Given the description of an element on the screen output the (x, y) to click on. 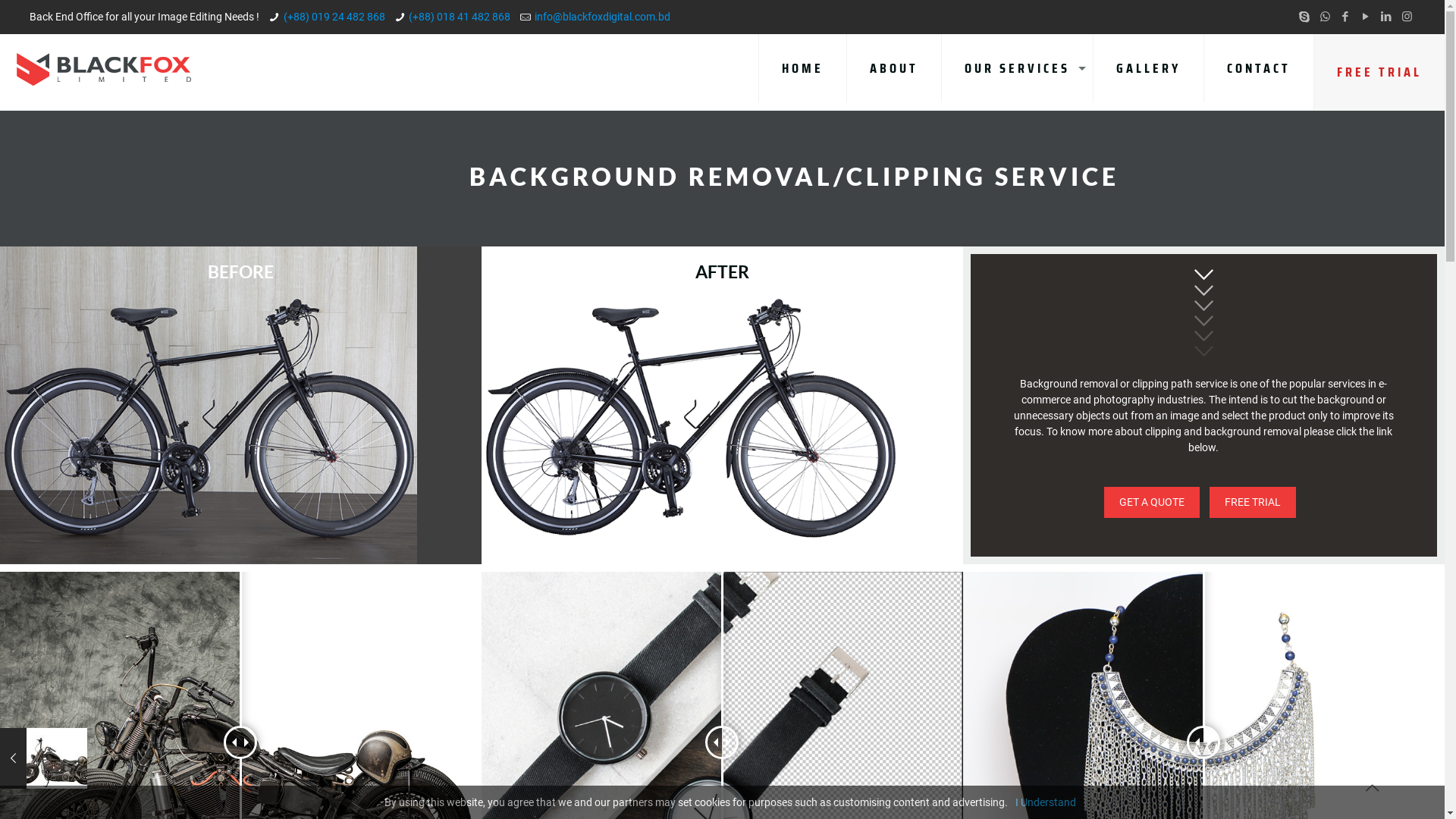
ABOUT Element type: text (894, 68)
Instagram Element type: hover (1407, 16)
FREE TRIAL Element type: text (1378, 71)
info@blackfoxdigital.com.bd Element type: text (602, 16)
HOME Element type: text (802, 68)
WhatsApp Element type: hover (1325, 16)
GET A QUOTE Element type: text (1151, 501)
BLACKFOX LIMITED Element type: hover (103, 68)
CONTACT Element type: text (1258, 68)
(+88) 018 41 482 868 Element type: text (459, 16)
YouTube Element type: hover (1366, 16)
FREE TRIAL Element type: text (1252, 501)
I Understand Element type: text (1044, 802)
(+88) 019 24 482 868 Element type: text (334, 16)
GALLERY Element type: text (1148, 68)
Skype Element type: hover (1304, 16)
OUR SERVICES Element type: text (1017, 68)
LinkedIn Element type: hover (1386, 16)
Facebook Element type: hover (1345, 16)
